Given the description of an element on the screen output the (x, y) to click on. 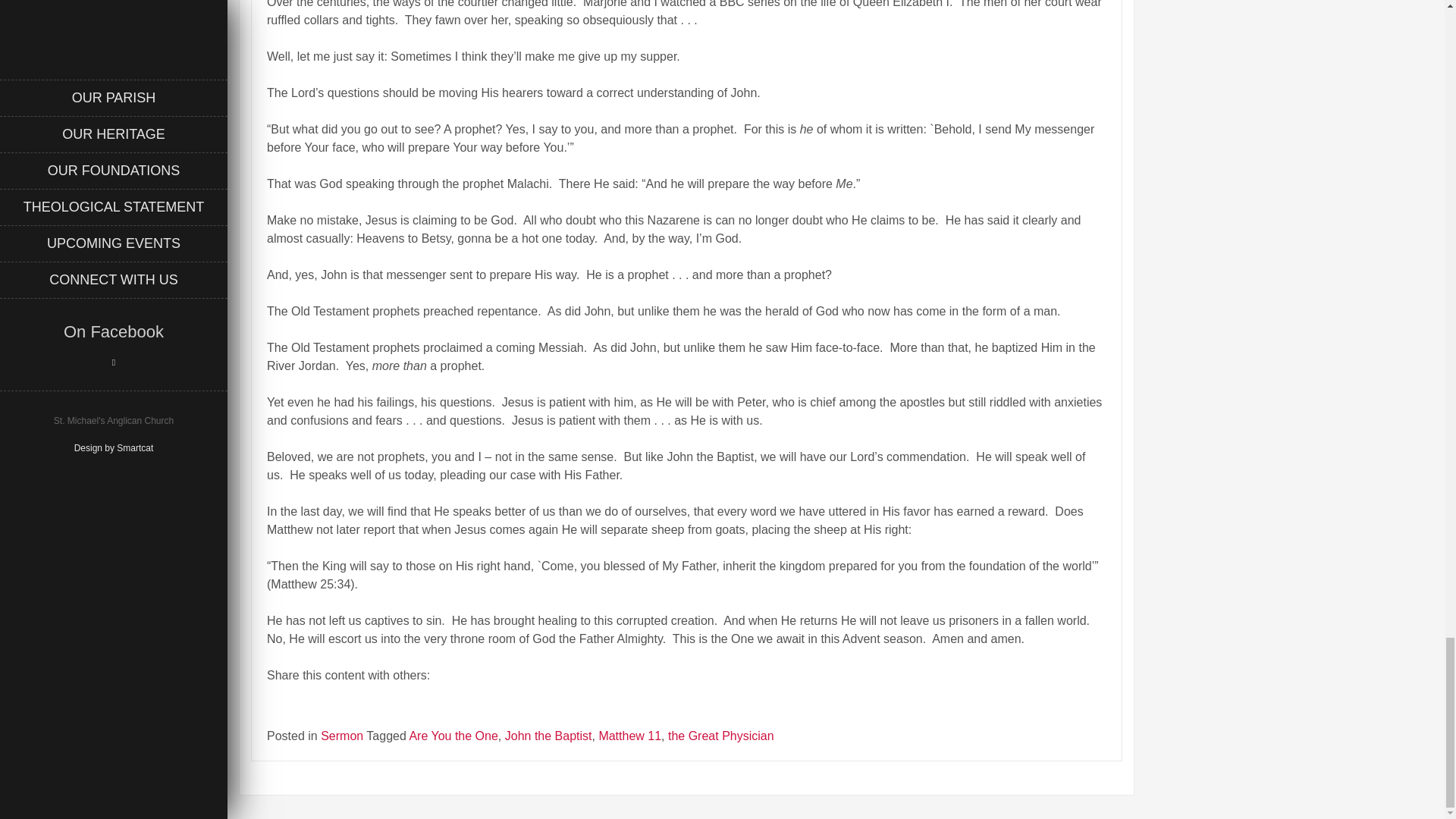
the Great Physician (721, 735)
John the Baptist (548, 735)
Are You the One (453, 735)
Matthew 11 (629, 735)
Sermon (341, 735)
